Given the description of an element on the screen output the (x, y) to click on. 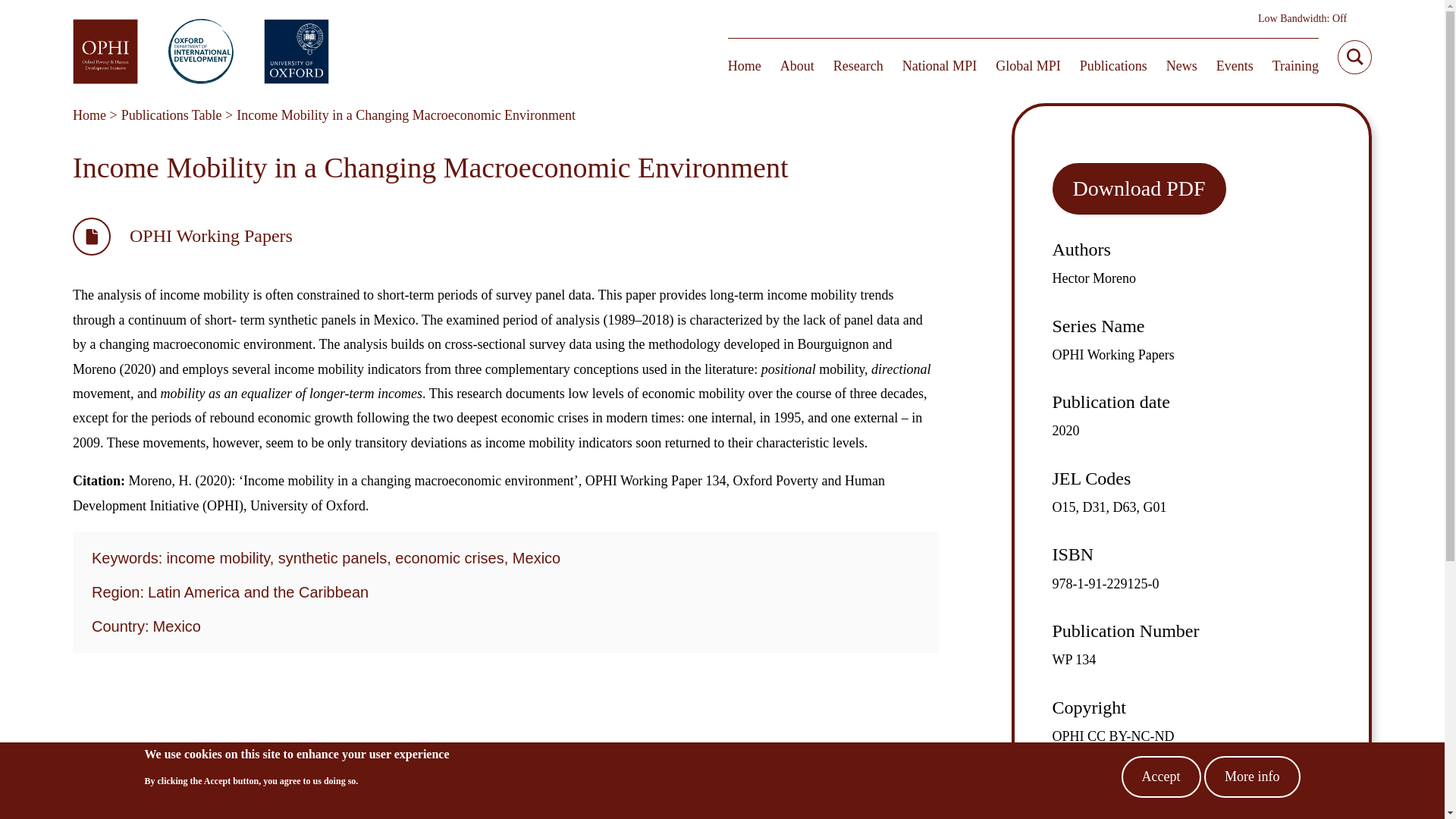
About (796, 65)
National MPI (939, 65)
Research (857, 65)
Home (744, 65)
Search (1356, 56)
Global MPI (1028, 65)
